Given the description of an element on the screen output the (x, y) to click on. 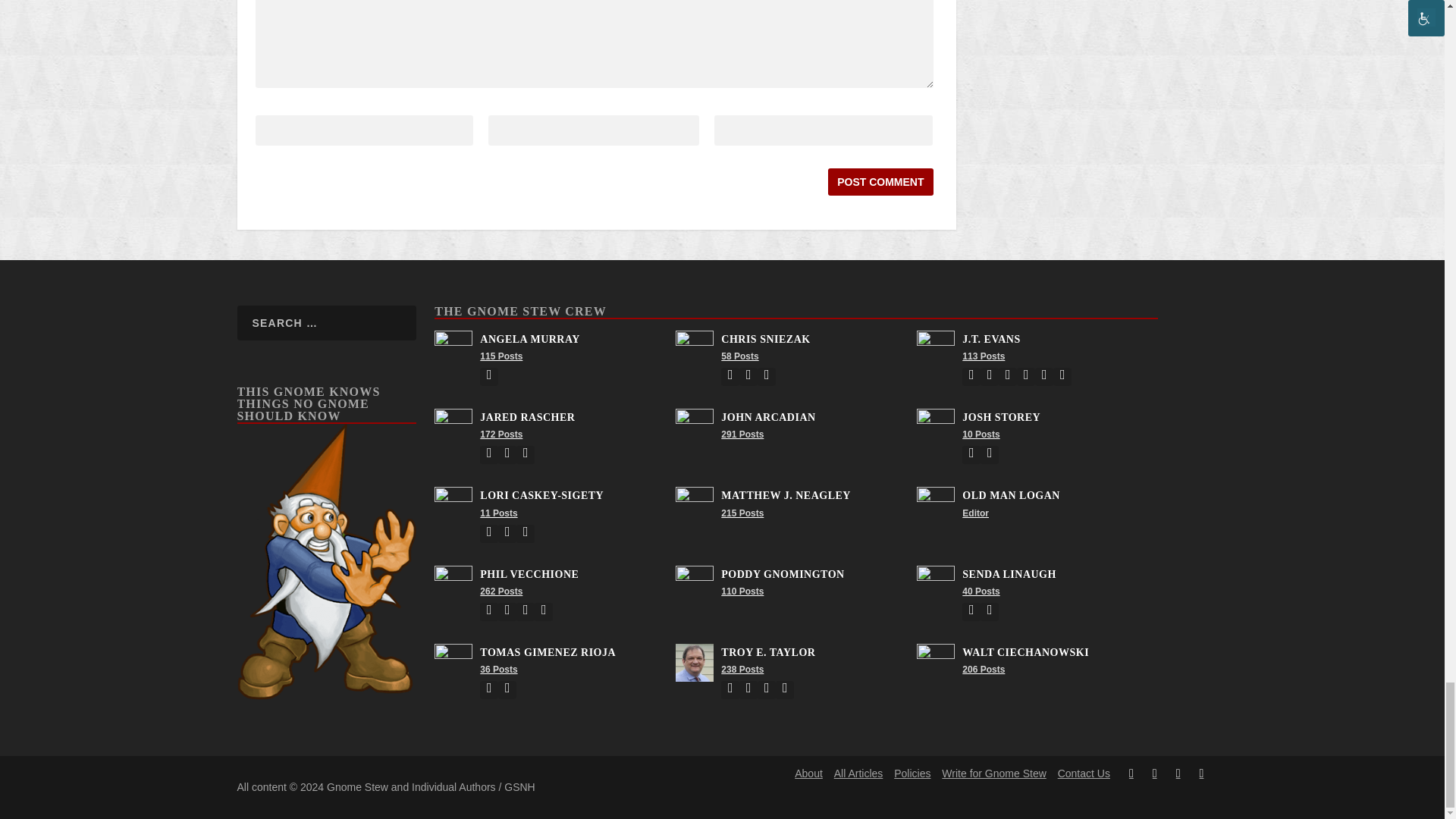
Post Comment (880, 181)
